Given the description of an element on the screen output the (x, y) to click on. 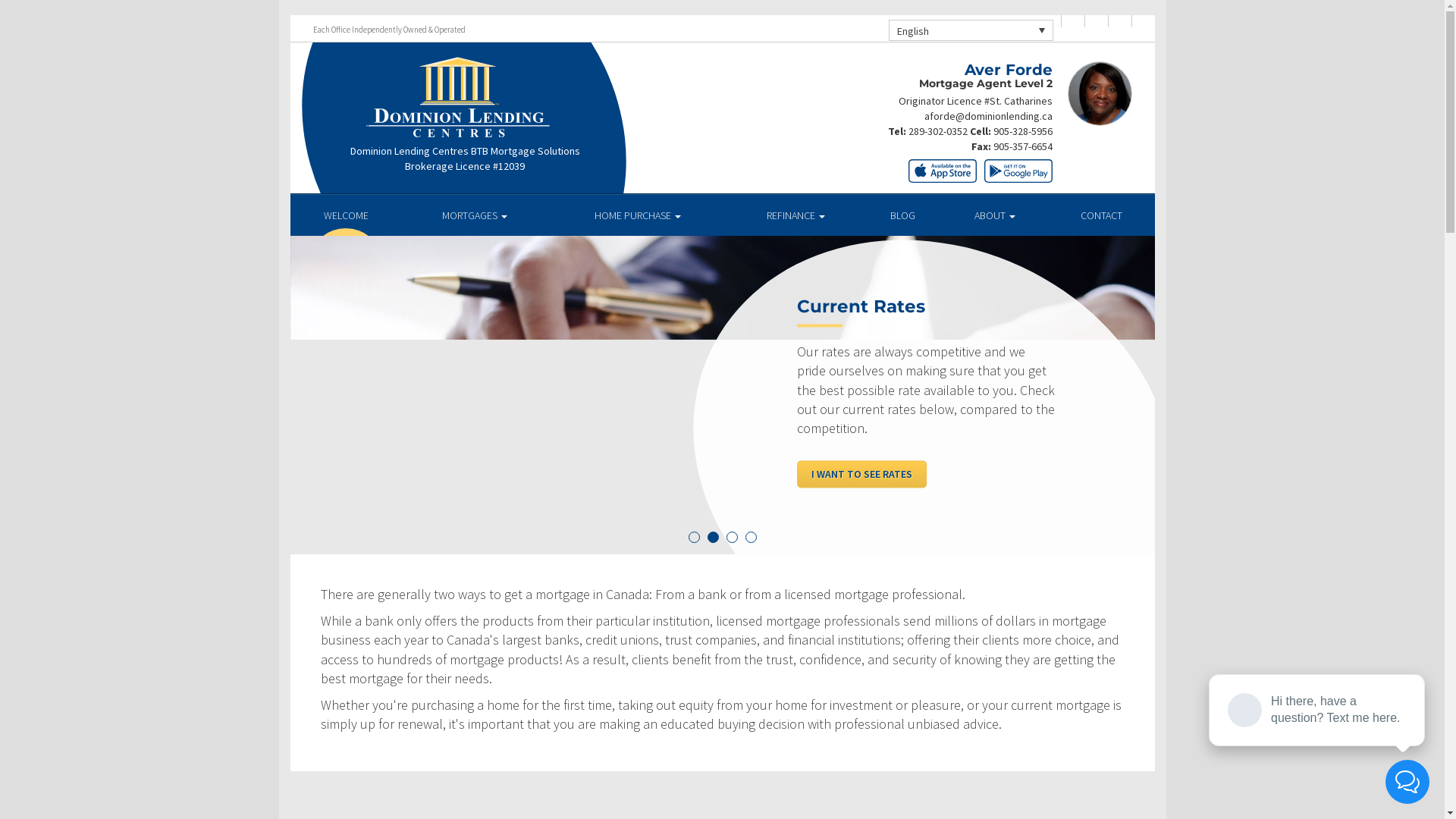
289-302-0352 Element type: text (937, 131)
BLOG Element type: text (901, 214)
aforde@dominionlending.ca Element type: text (987, 115)
CONTACT Element type: text (1101, 214)
905-328-5956 Element type: text (1022, 131)
MORTGAGES Element type: text (474, 214)
REFINANCE Element type: text (795, 214)
HOME PURCHASE Element type: text (637, 214)
905-357-6654 Element type: text (1022, 146)
WELCOME Element type: text (345, 214)
English Element type: text (970, 29)
I WANT TO SEE RATES Element type: text (861, 473)
ABOUT Element type: text (994, 214)
